Given the description of an element on the screen output the (x, y) to click on. 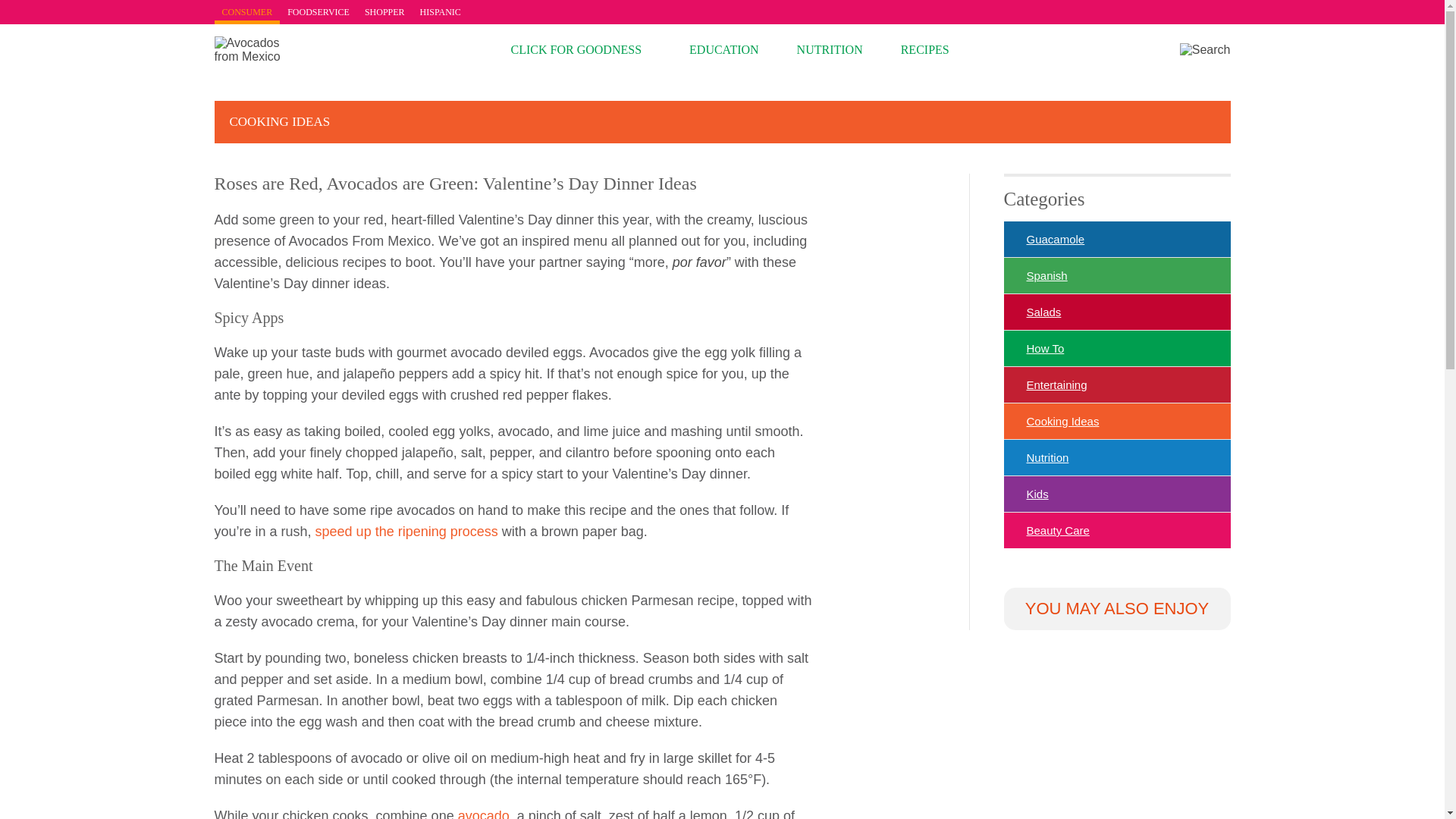
SHOPPER (384, 12)
search (1204, 49)
NUTRITION (829, 49)
EDUCATION (723, 49)
HISPANIC (440, 12)
CLICK FOR GOODNESS (576, 49)
RECIPES (925, 49)
CONSUMER (246, 12)
FOODSERVICE (317, 12)
